Given the description of an element on the screen output the (x, y) to click on. 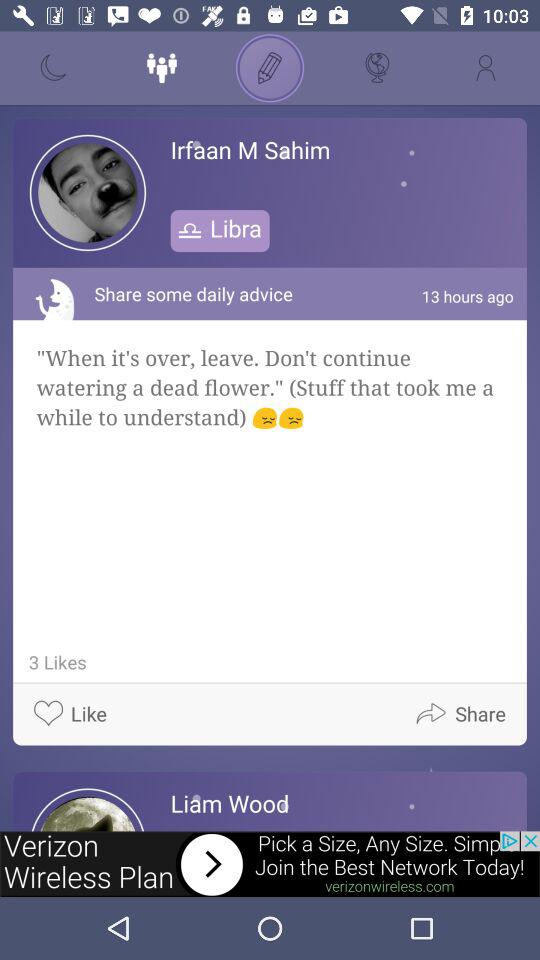
write post (269, 68)
